Given the description of an element on the screen output the (x, y) to click on. 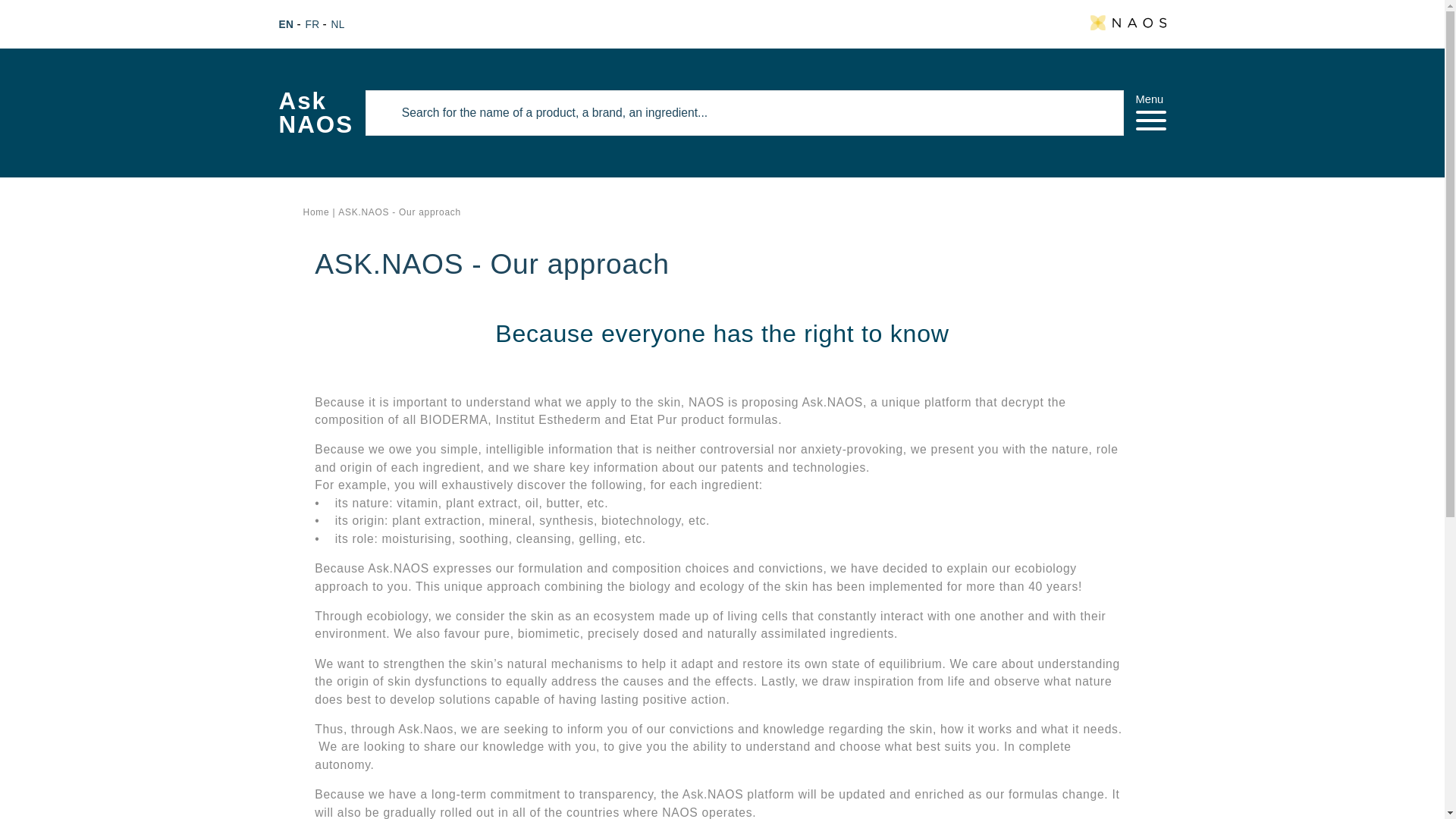
FR (316, 113)
EN (312, 24)
Home (288, 24)
NL (317, 212)
